Given the description of an element on the screen output the (x, y) to click on. 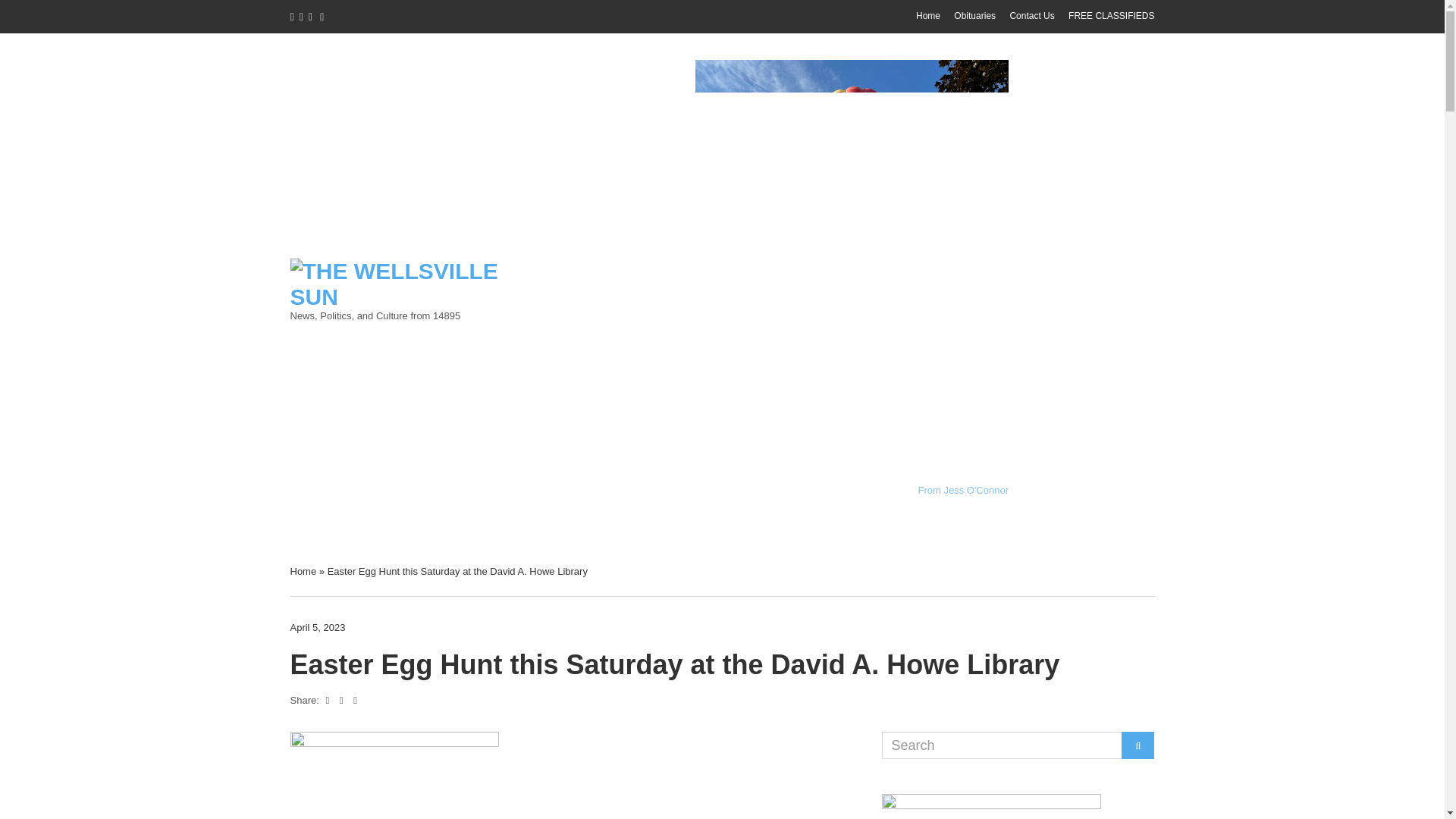
Home (302, 571)
Obituaries (974, 15)
FREE CLASSIFIEDS (1111, 15)
From Jess O'Connor (963, 490)
Contact Us (1031, 15)
Home (927, 15)
SEARCH (1137, 745)
